Given the description of an element on the screen output the (x, y) to click on. 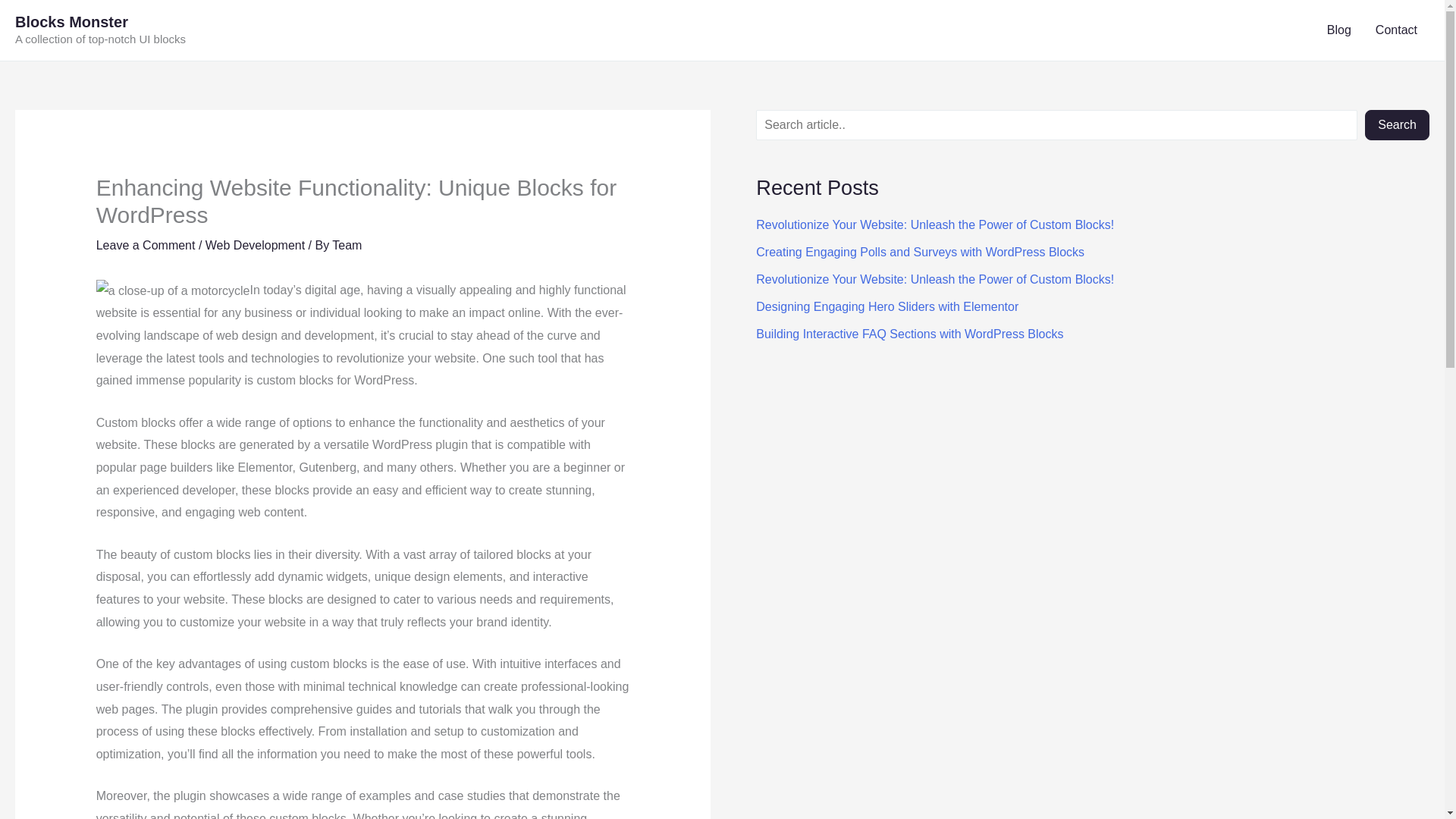
Creating Engaging Polls and Surveys with WordPress Blocks (919, 251)
Building Interactive FAQ Sections with WordPress Blocks (908, 333)
Blocks Monster (71, 21)
Designing Engaging Hero Sliders with Elementor (886, 306)
Search (1397, 124)
Team (346, 245)
Contact (1395, 30)
Leave a Comment (145, 245)
Web Development (254, 245)
Blog (1338, 30)
View all posts by Team (346, 245)
